Given the description of an element on the screen output the (x, y) to click on. 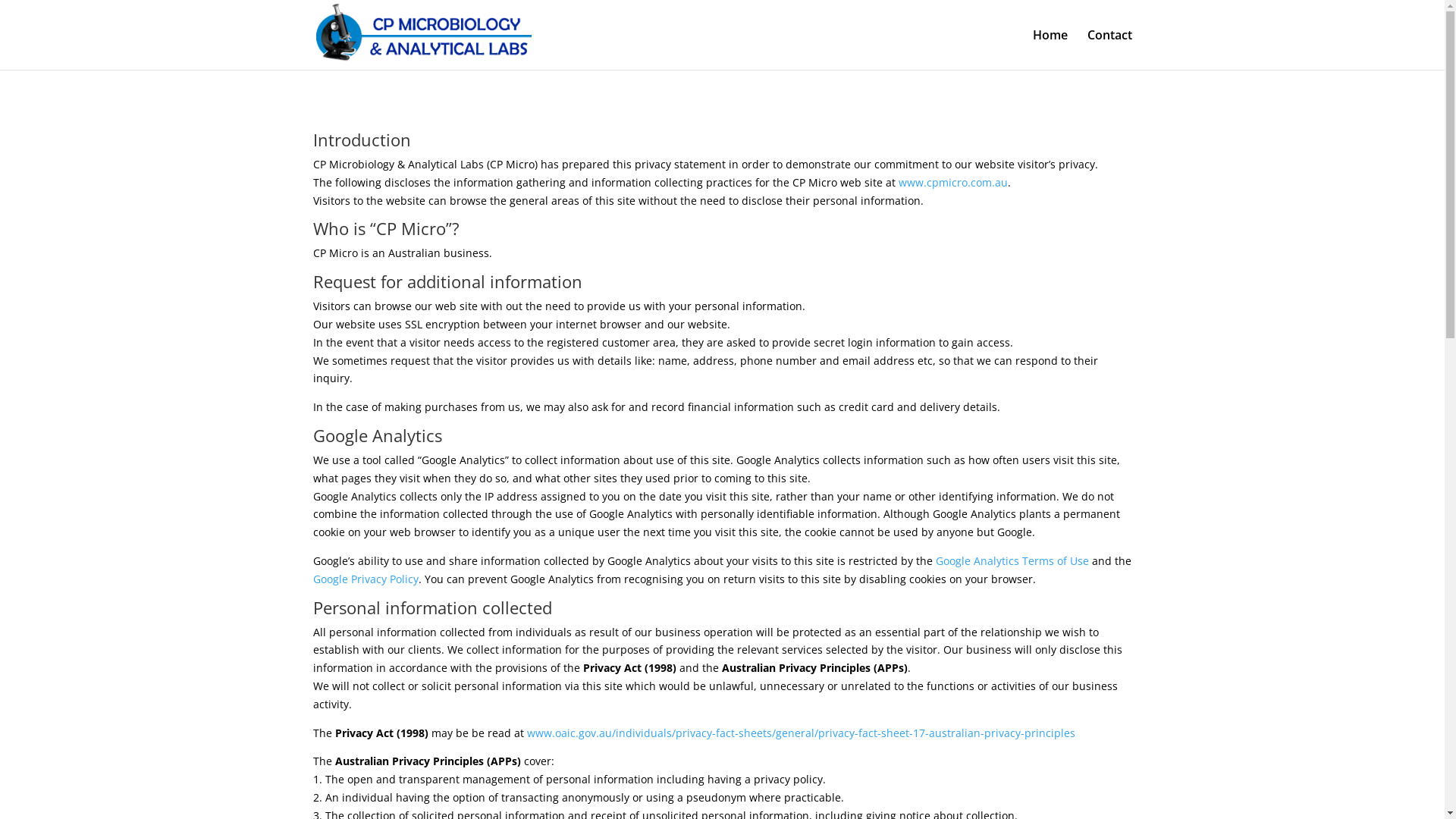
Contact Element type: text (1109, 49)
Home Element type: text (1049, 49)
www.cpmicro.com.au Element type: text (952, 182)
Google Analytics Terms of Use Element type: text (1011, 560)
Google Privacy Policy Element type: text (364, 578)
